Given the description of an element on the screen output the (x, y) to click on. 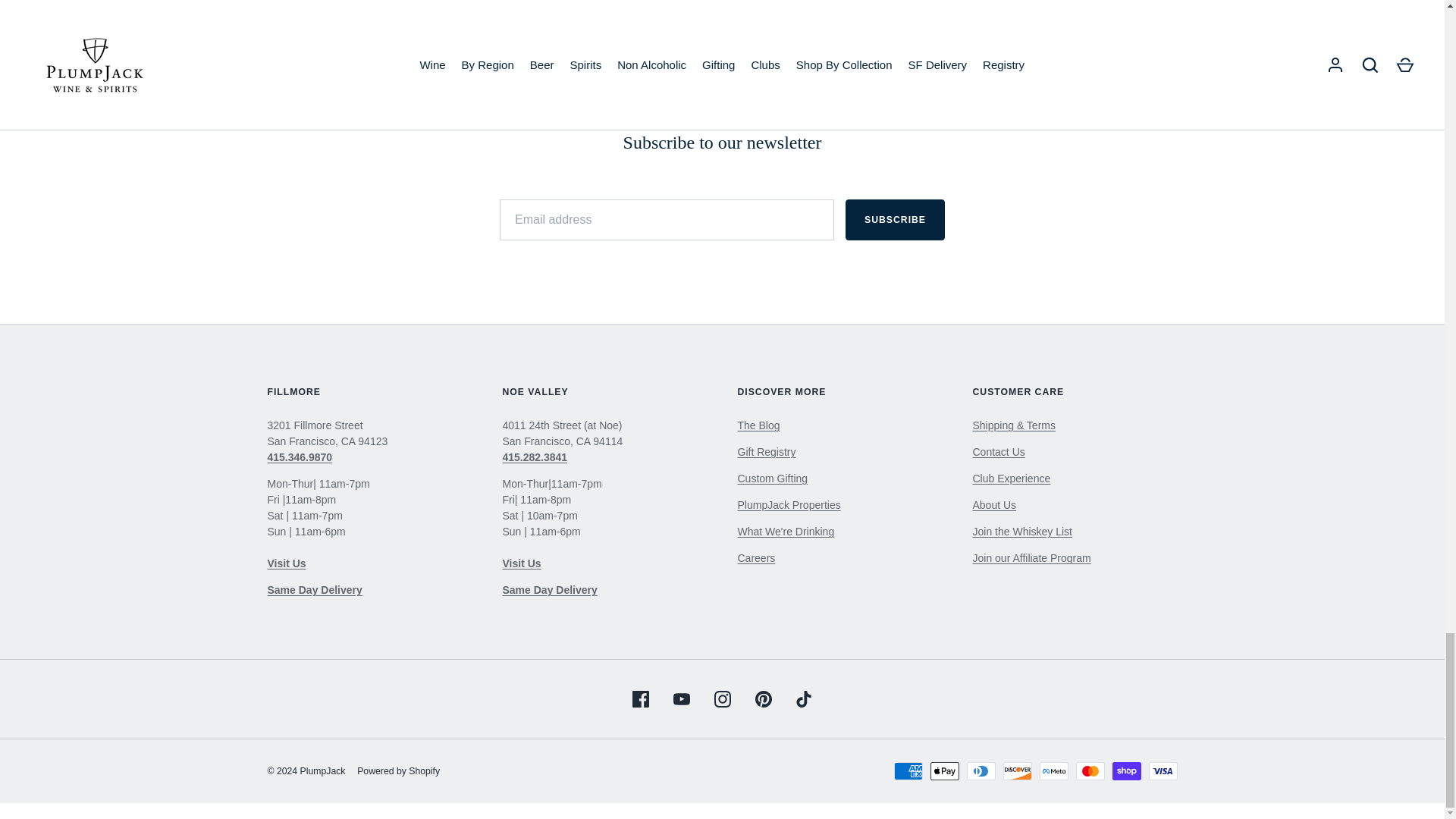
Visit Us (998, 451)
About (994, 504)
tel:415.282.3841 (534, 457)
tel:415.346.9870 (298, 457)
Gift Registry (765, 451)
Affiliate Sign-Up (1031, 558)
Club Experience (1010, 478)
Whiskey Mailing List Sign Up (1021, 531)
Staff Picks (785, 531)
Visit us - Noe (521, 563)
